Given the description of an element on the screen output the (x, y) to click on. 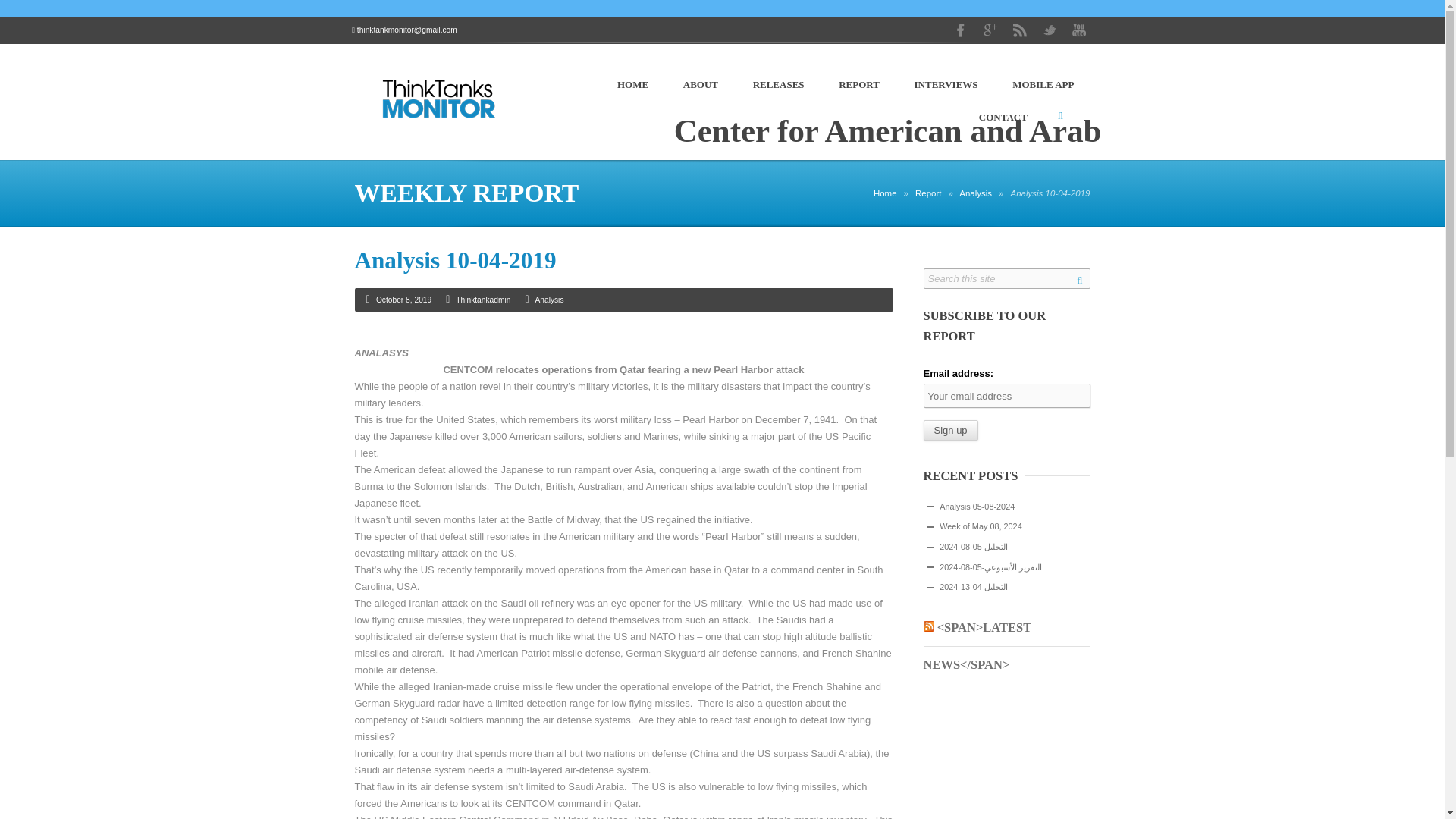
Visit us on Googleplus (990, 30)
Visit us on Youtube (1079, 30)
Thinktankadmin (483, 299)
Sign up (950, 430)
Visit us on Googleplus (990, 30)
ABOUT (700, 84)
Week of May 08, 2024 (980, 525)
Analysis 10-04-2019 (455, 260)
Home (884, 193)
INTERVIEWS (946, 84)
View all posts from thinktankadmin (483, 299)
Analysis (548, 299)
Visit us on Twitter (1048, 30)
Visit us on Facebook (960, 30)
MOBILE APP (1043, 84)
